Given the description of an element on the screen output the (x, y) to click on. 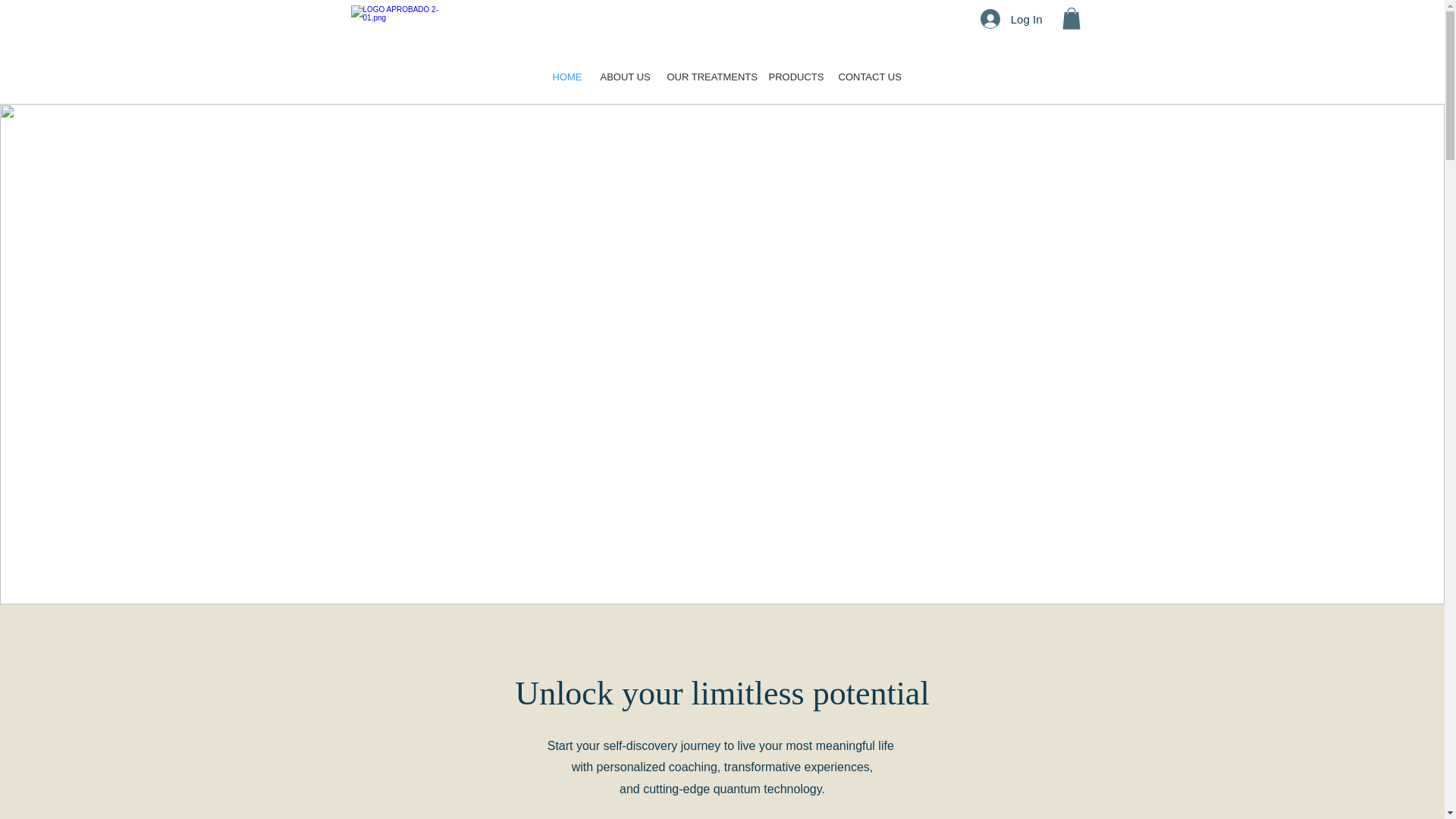
PRODUCTS (792, 76)
Log In (1010, 18)
HOME (565, 76)
CONTACT US (864, 76)
ABOUT US (621, 76)
OUR TREATMENTS (706, 76)
